Given the description of an element on the screen output the (x, y) to click on. 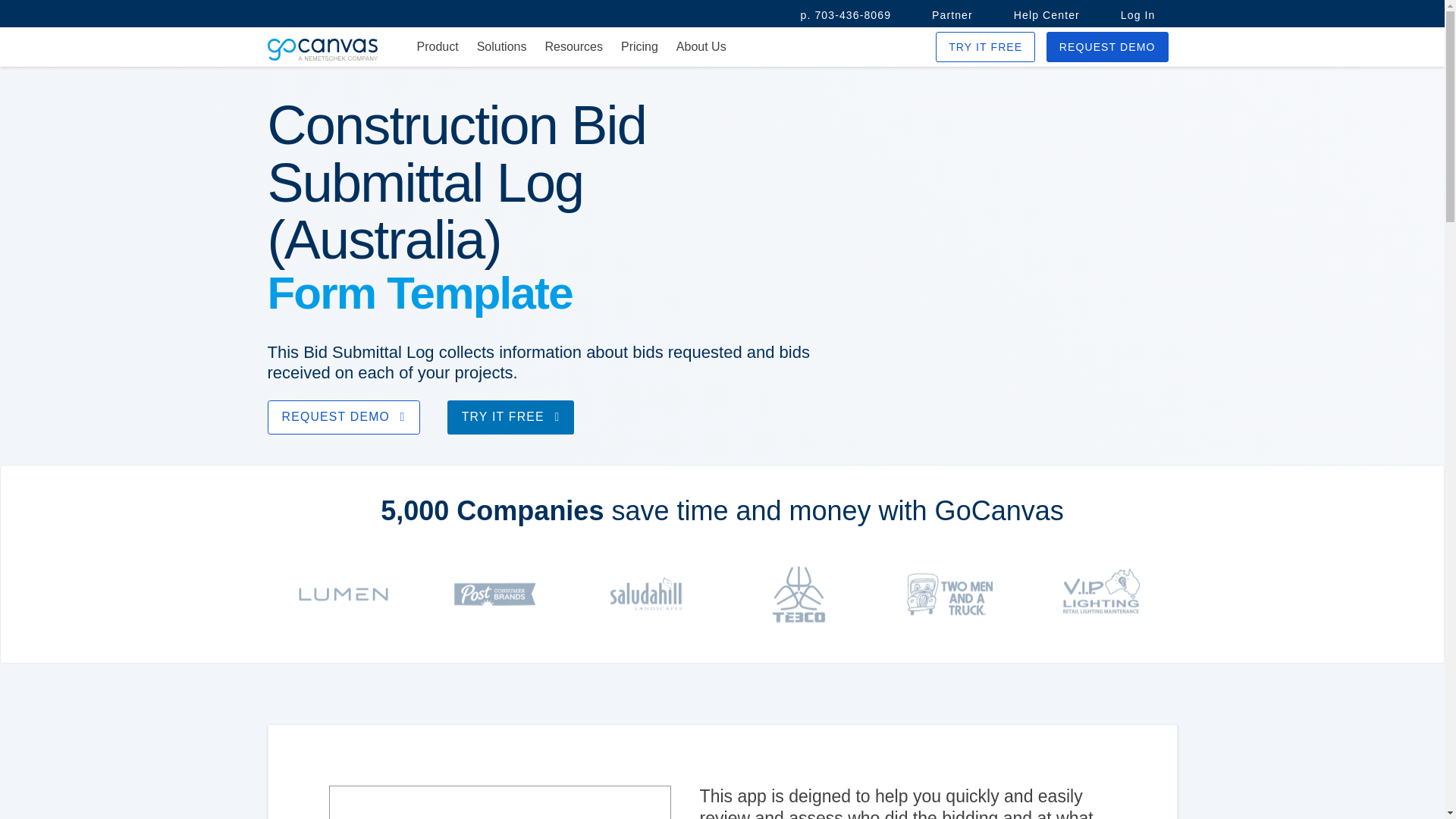
Partner (951, 15)
Log In (1138, 15)
TRY IT FREE (510, 417)
TRY IT FREE (985, 46)
About Us (701, 46)
p. 703-436-8069 (845, 15)
REQUEST DEMO (1107, 46)
Pricing (639, 46)
REQUEST DEMO (342, 417)
Help Center (1047, 15)
